Given the description of an element on the screen output the (x, y) to click on. 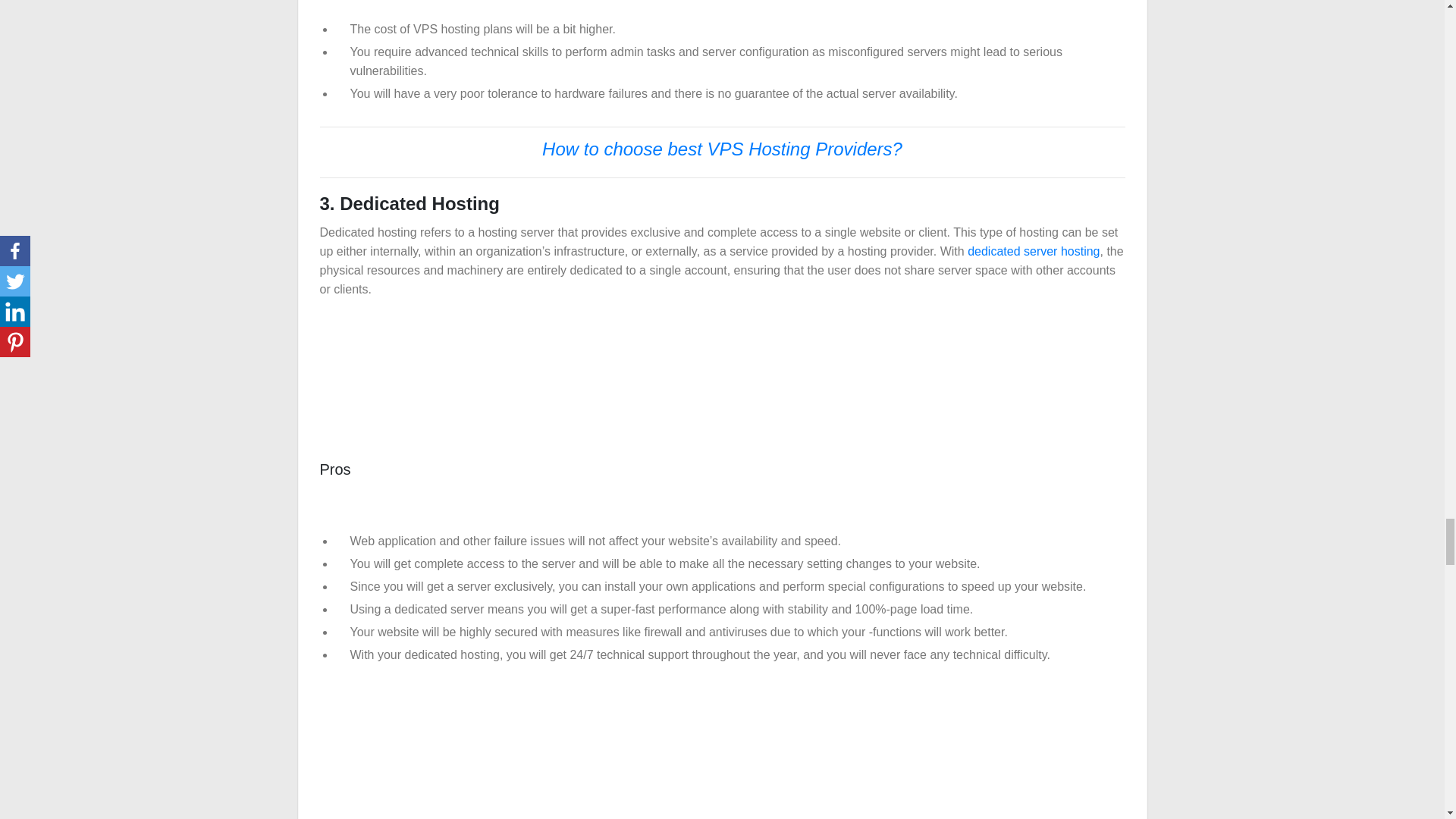
dedicated server hosting (1033, 250)
How to choose best VPS Hosting Providers? (721, 151)
